Given the description of an element on the screen output the (x, y) to click on. 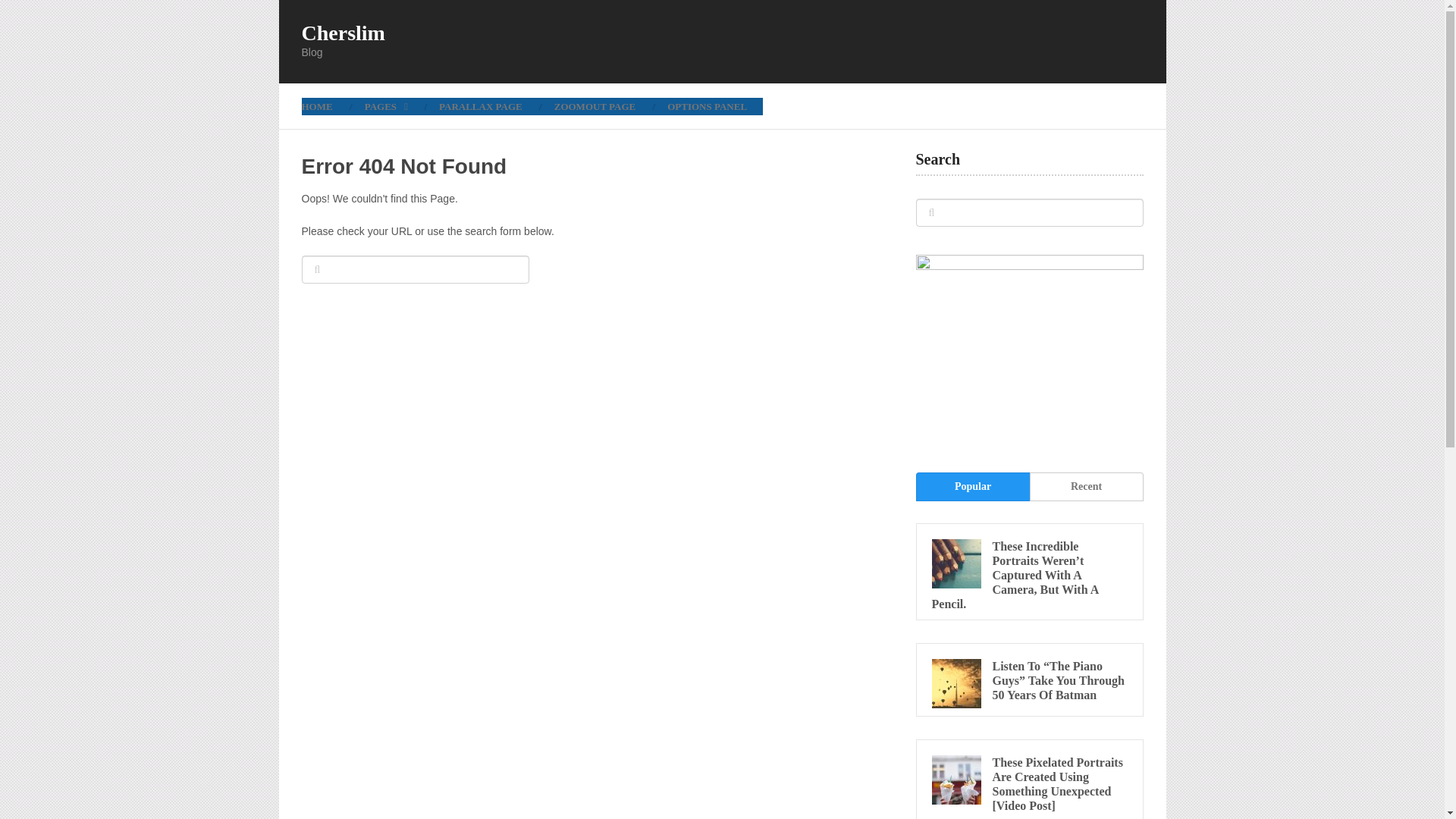
PAGES (386, 105)
OPTIONS PANEL (706, 105)
Popular (972, 486)
HOME (325, 105)
PARALLAX PAGE (480, 105)
ZOOMOUT PAGE (595, 105)
Recent (1085, 486)
Cherslim (343, 33)
